Given the description of an element on the screen output the (x, y) to click on. 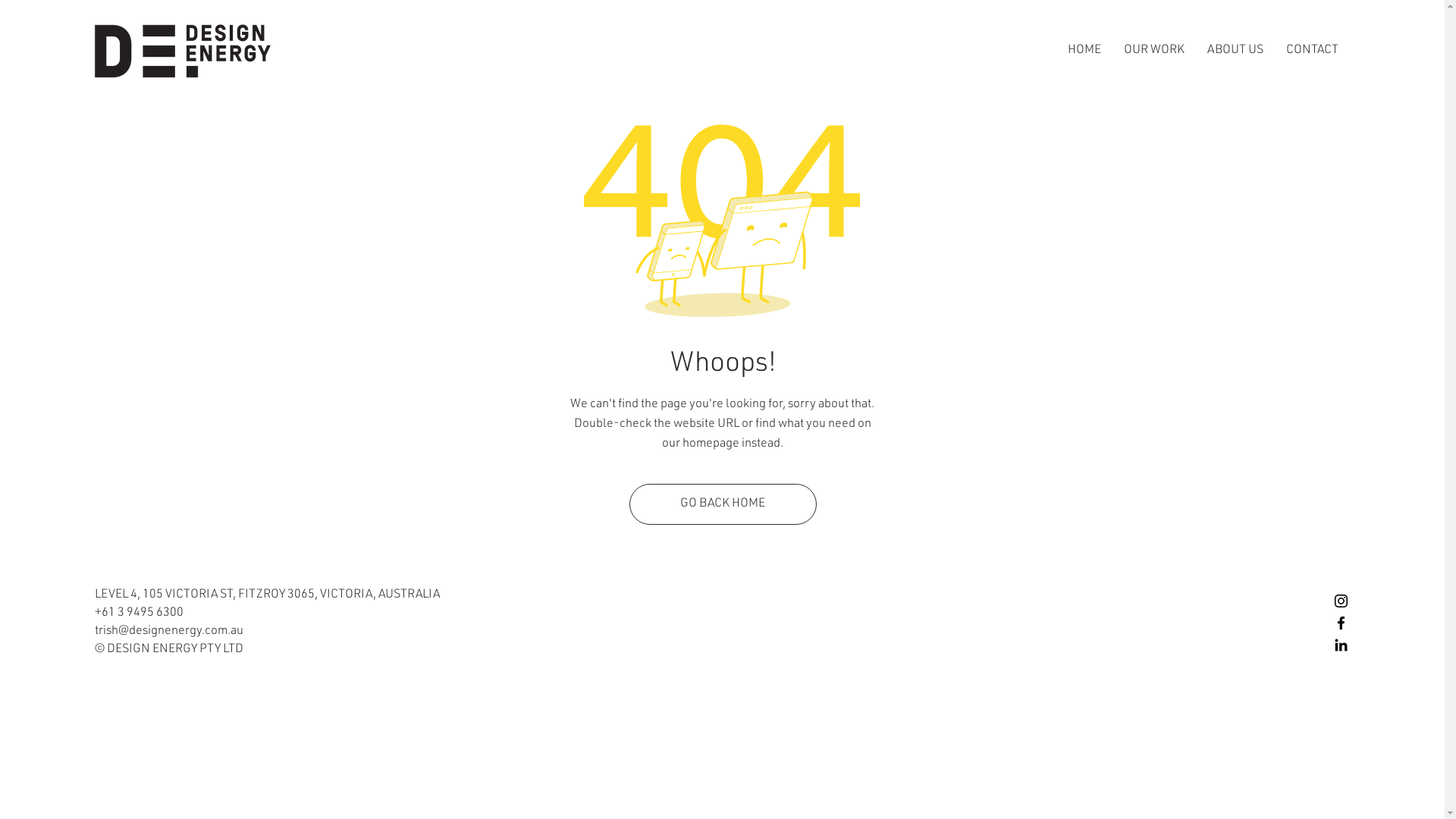
ABOUT US Element type: text (1234, 50)
GO BACK HOME Element type: text (722, 503)
DE-Full-logo_Dark-grey-WEB-72dpi.png Element type: hover (182, 50)
CONTACT Element type: text (1311, 50)
HOME Element type: text (1084, 50)
trish@designenergy.com.au Element type: text (168, 631)
OUR WORK Element type: text (1153, 50)
